Given the description of an element on the screen output the (x, y) to click on. 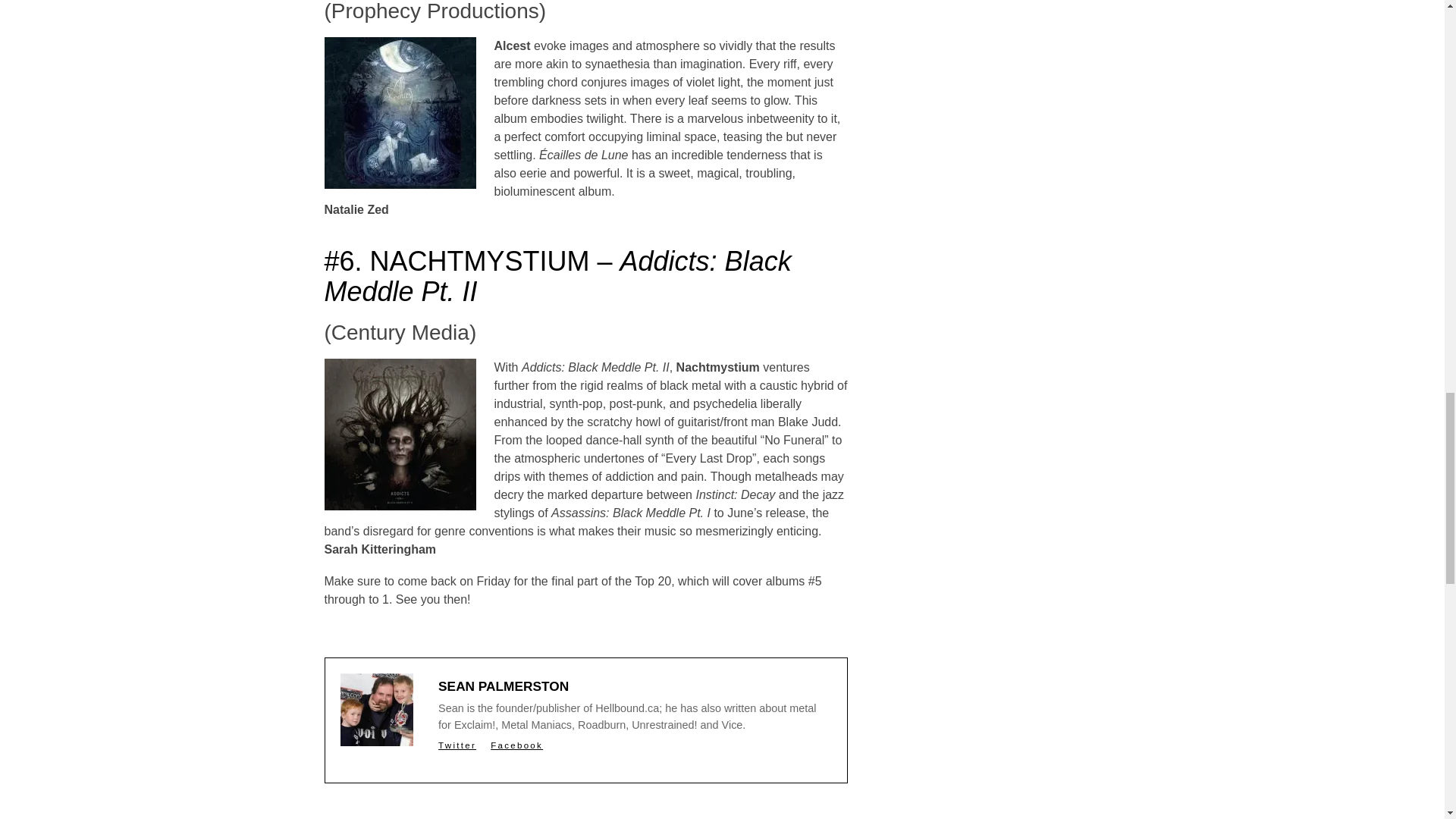
6 (400, 434)
07 (400, 112)
